Given the description of an element on the screen output the (x, y) to click on. 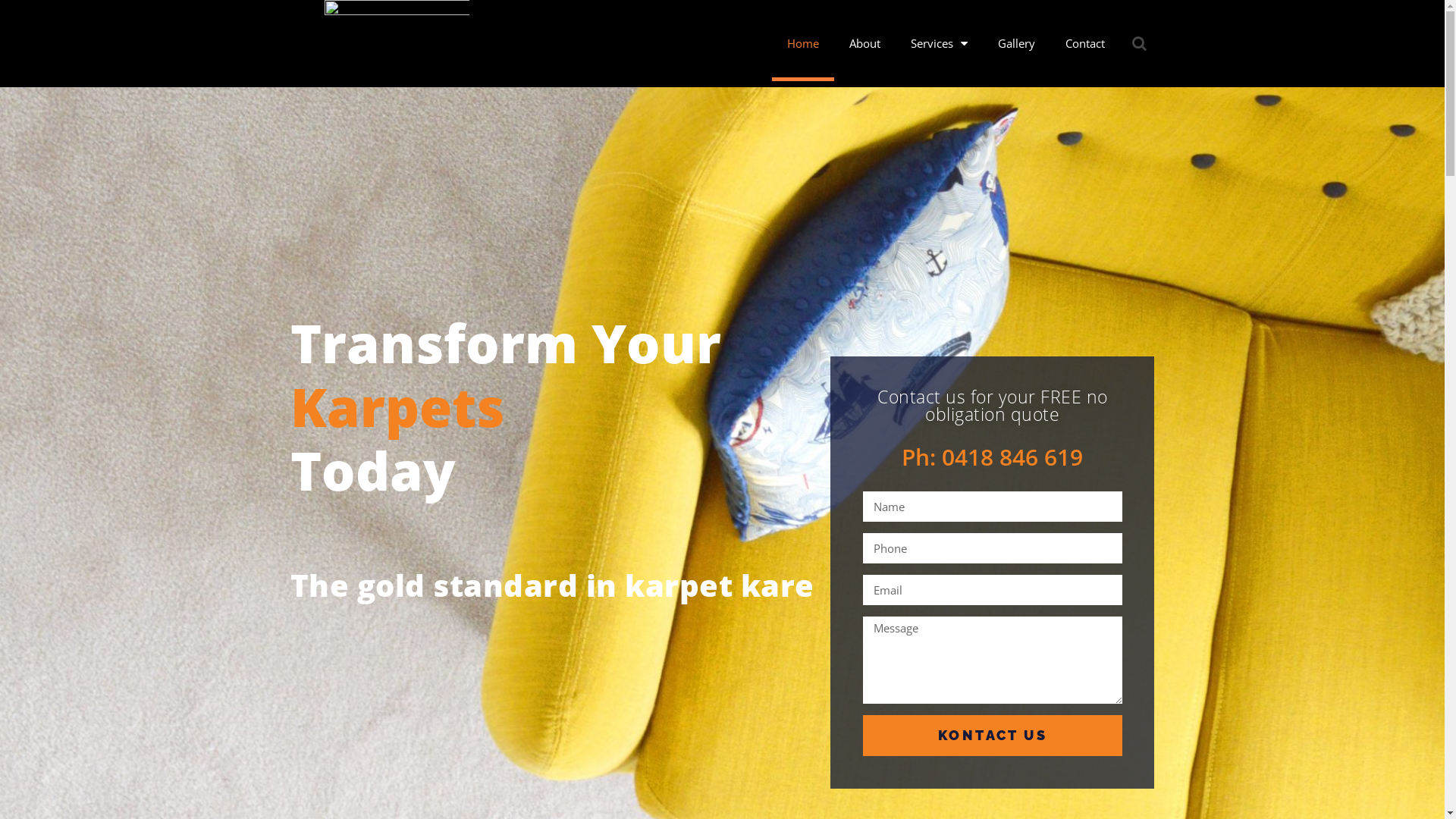
Home Element type: text (802, 43)
KONTACT US Element type: text (992, 735)
Gallery Element type: text (1016, 43)
Contact Element type: text (1085, 43)
About Element type: text (864, 43)
Services Element type: text (938, 43)
